Given the description of an element on the screen output the (x, y) to click on. 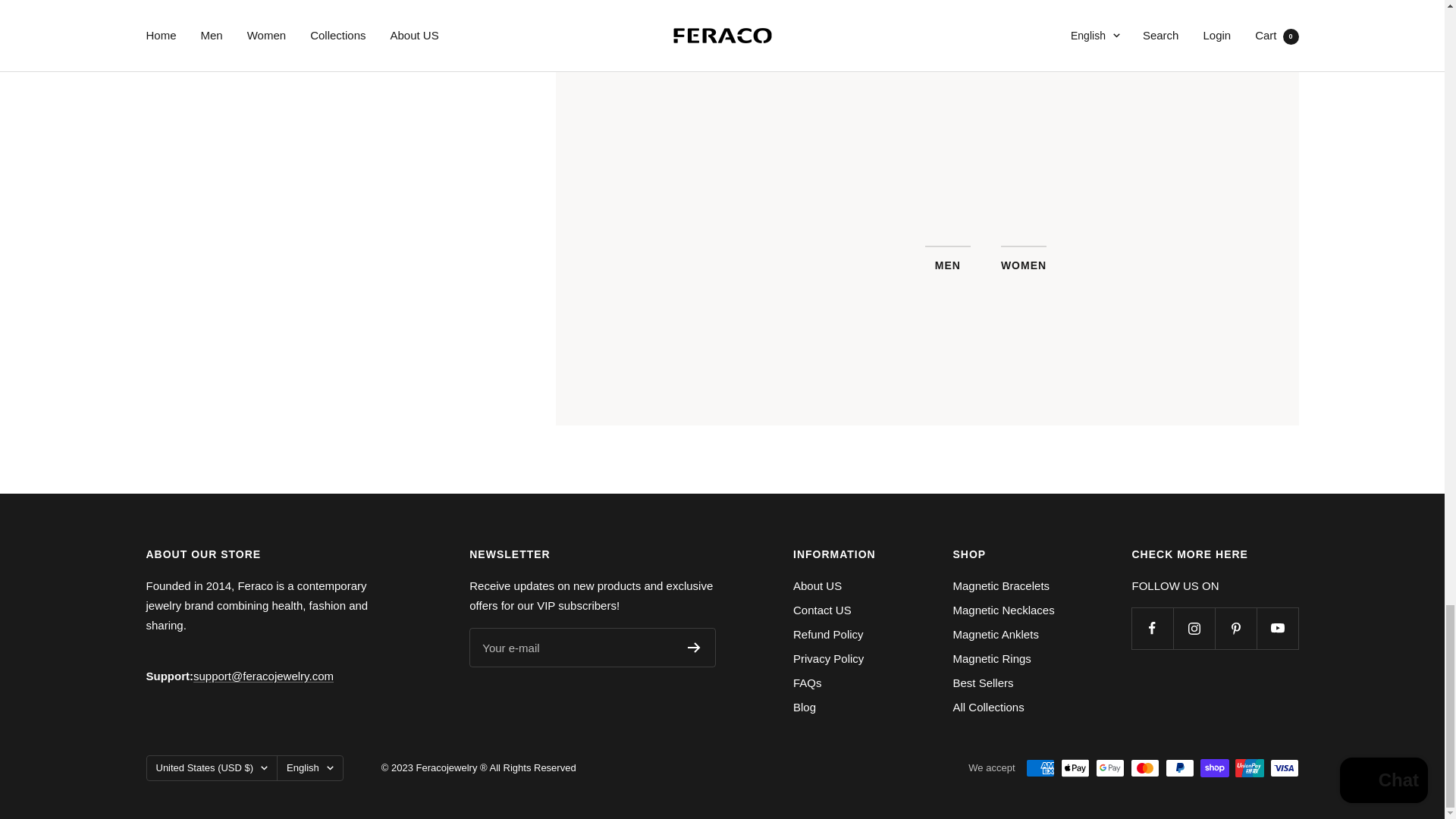
Register (693, 647)
